Given the description of an element on the screen output the (x, y) to click on. 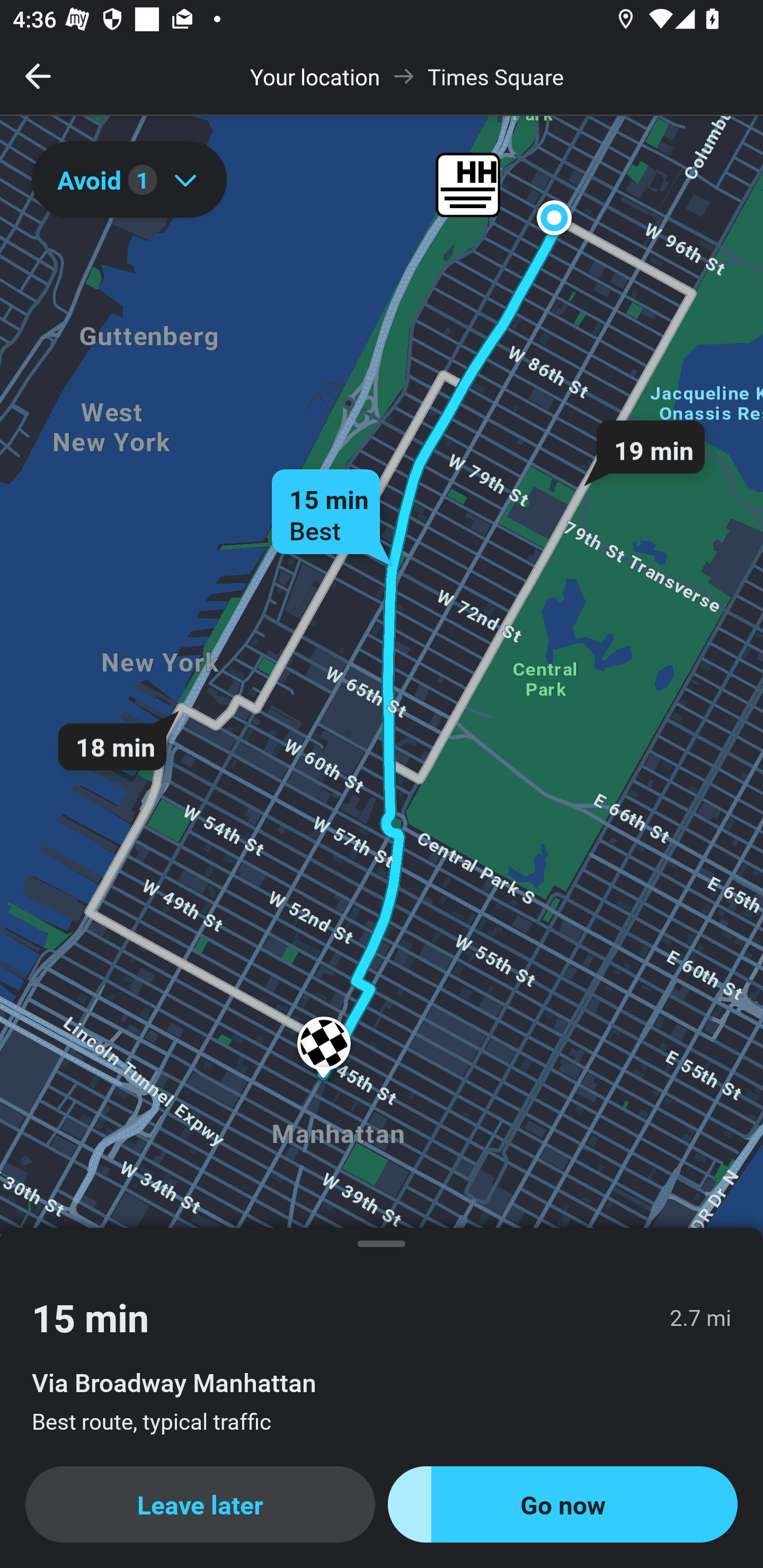
Leave later (200, 1504)
Go now (562, 1504)
